Given the description of an element on the screen output the (x, y) to click on. 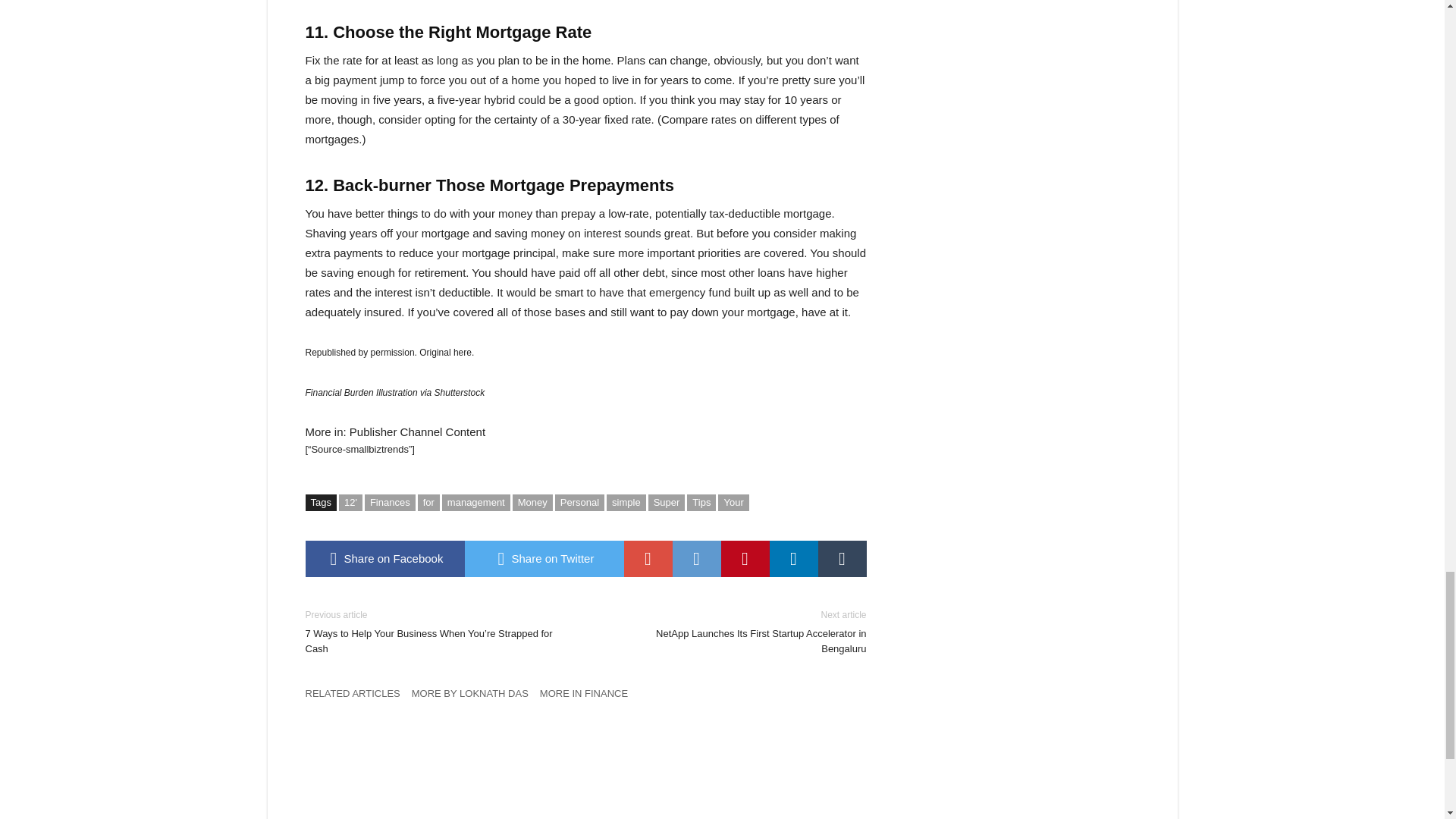
management (476, 502)
for (428, 502)
12' (350, 502)
Money (532, 502)
Finances (389, 502)
